Given the description of an element on the screen output the (x, y) to click on. 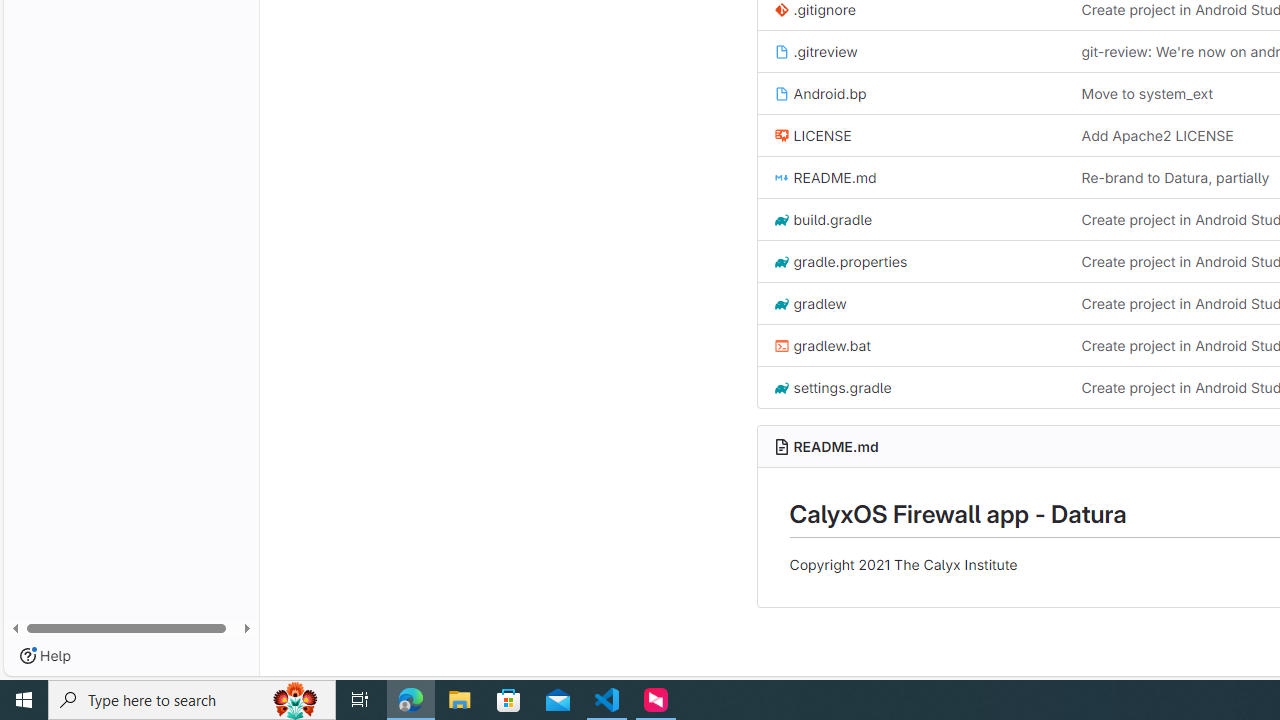
.gitreview (815, 51)
LICENSE (812, 135)
Android.bp (819, 92)
Move to system_ext (1147, 92)
Add Apache2 LICENSE (1157, 135)
settings.gradle (832, 387)
Class: s16 position-relative file-icon (781, 388)
.gitreview (911, 51)
README.md (911, 177)
README.md (836, 446)
Re-brand to Datura, partially (1175, 177)
gradlew.bat (821, 344)
gradlew (911, 303)
build.gradle (911, 219)
